Given the description of an element on the screen output the (x, y) to click on. 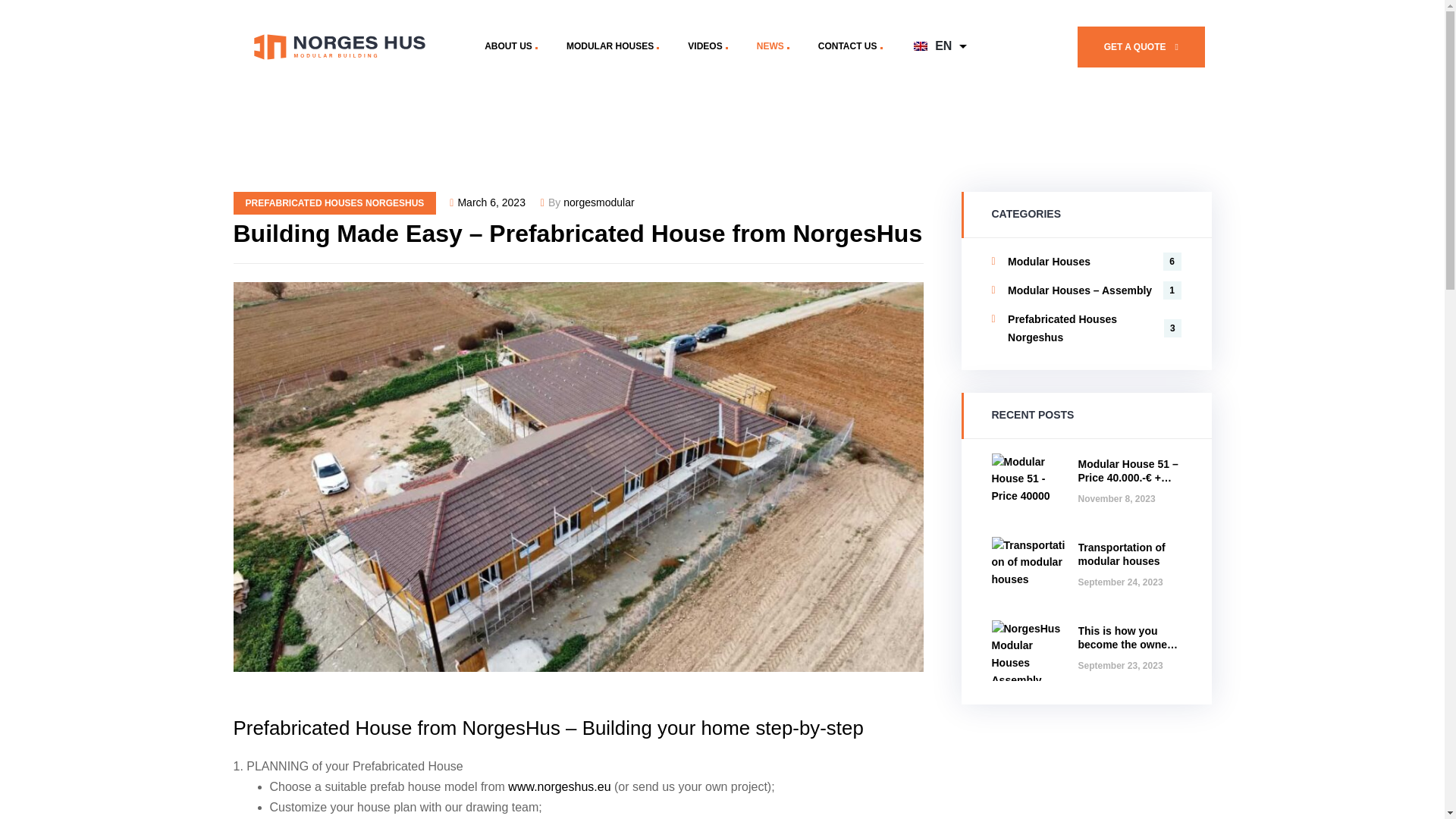
norgesmodular (598, 202)
NEWS (773, 46)
VIDEOS (708, 46)
CONTACT US (850, 46)
March 6, 2023 (491, 202)
MODULAR HOUSES (612, 46)
ABOUT US (510, 46)
GET A QUOTE (1141, 46)
www.norgeshus.eu (559, 786)
PREFABRICATED HOUSES NORGESHUS (334, 202)
